Given the description of an element on the screen output the (x, y) to click on. 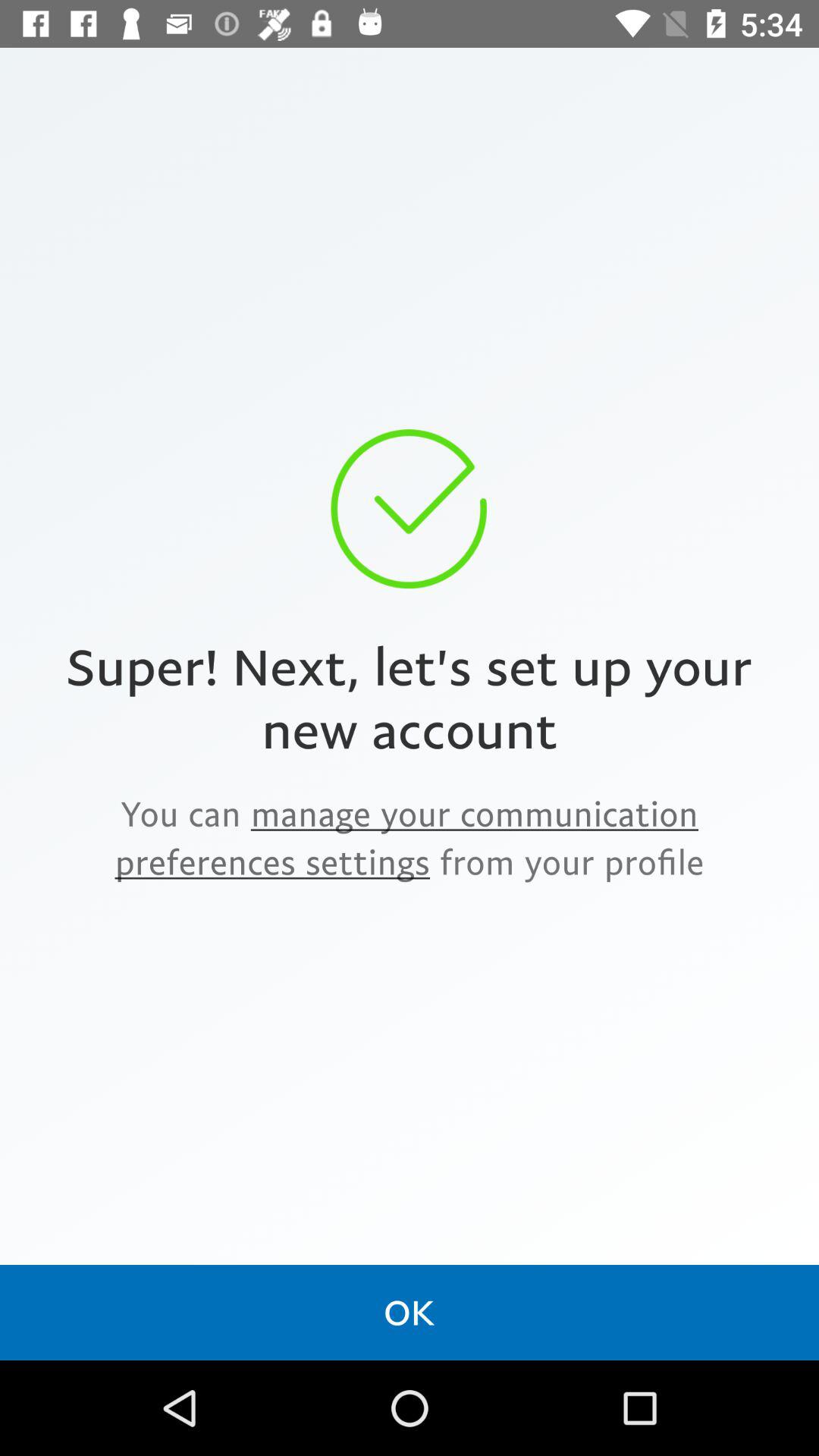
turn off the icon above the ok item (409, 837)
